Given the description of an element on the screen output the (x, y) to click on. 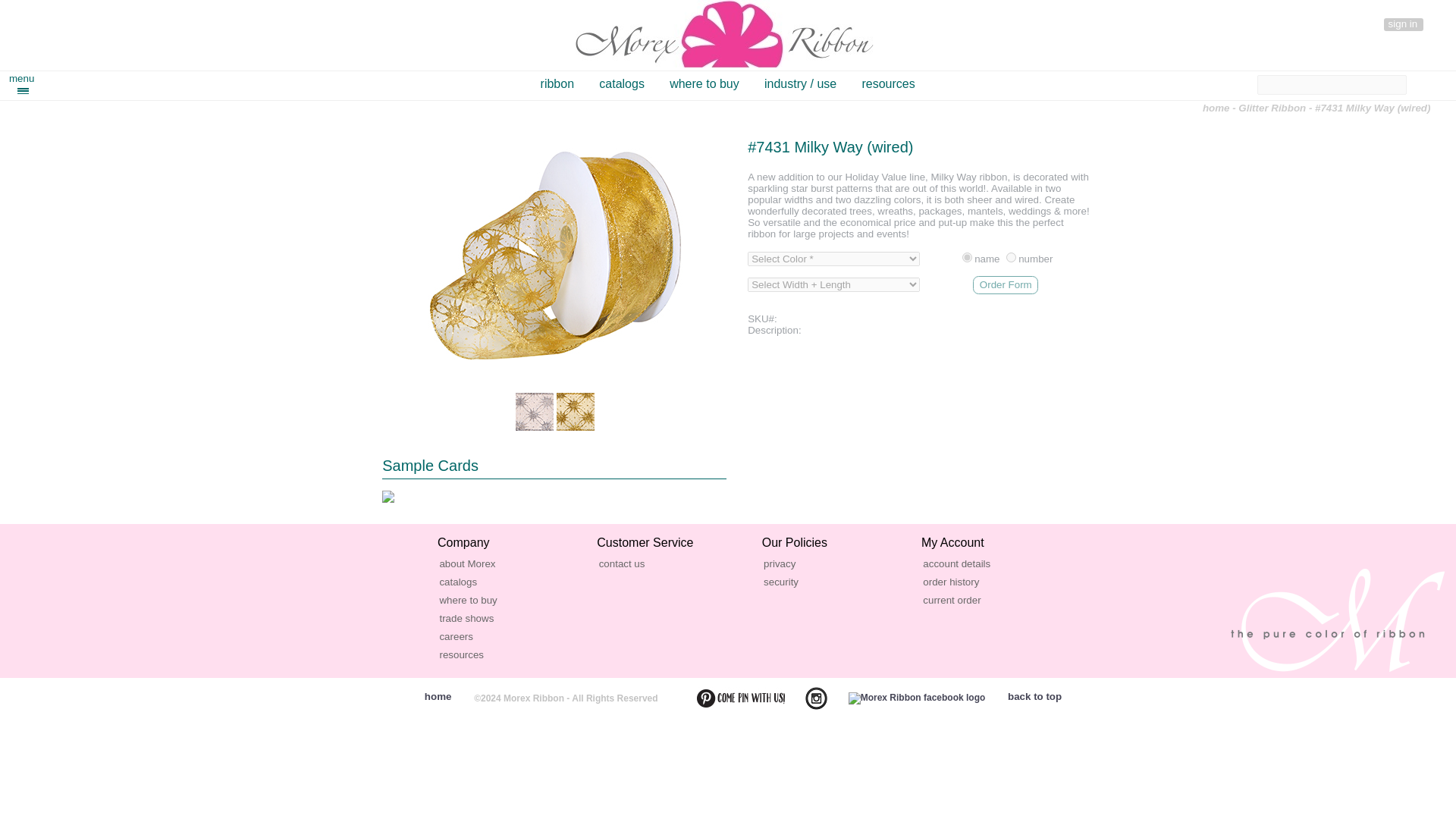
catalogs (621, 83)
Come pin with us on Pinterest! (731, 698)
where to buy (704, 83)
home (1216, 107)
sign in (1403, 24)
Glitter Ribbon (1272, 107)
name (967, 257)
Morex Ribbon Home Page (724, 33)
click to toggle ribbon menu. (25, 83)
Visit our photos on instagram. (807, 698)
number (1011, 257)
resources (887, 83)
Connect with us on facebook. (907, 698)
menu (25, 83)
